Given the description of an element on the screen output the (x, y) to click on. 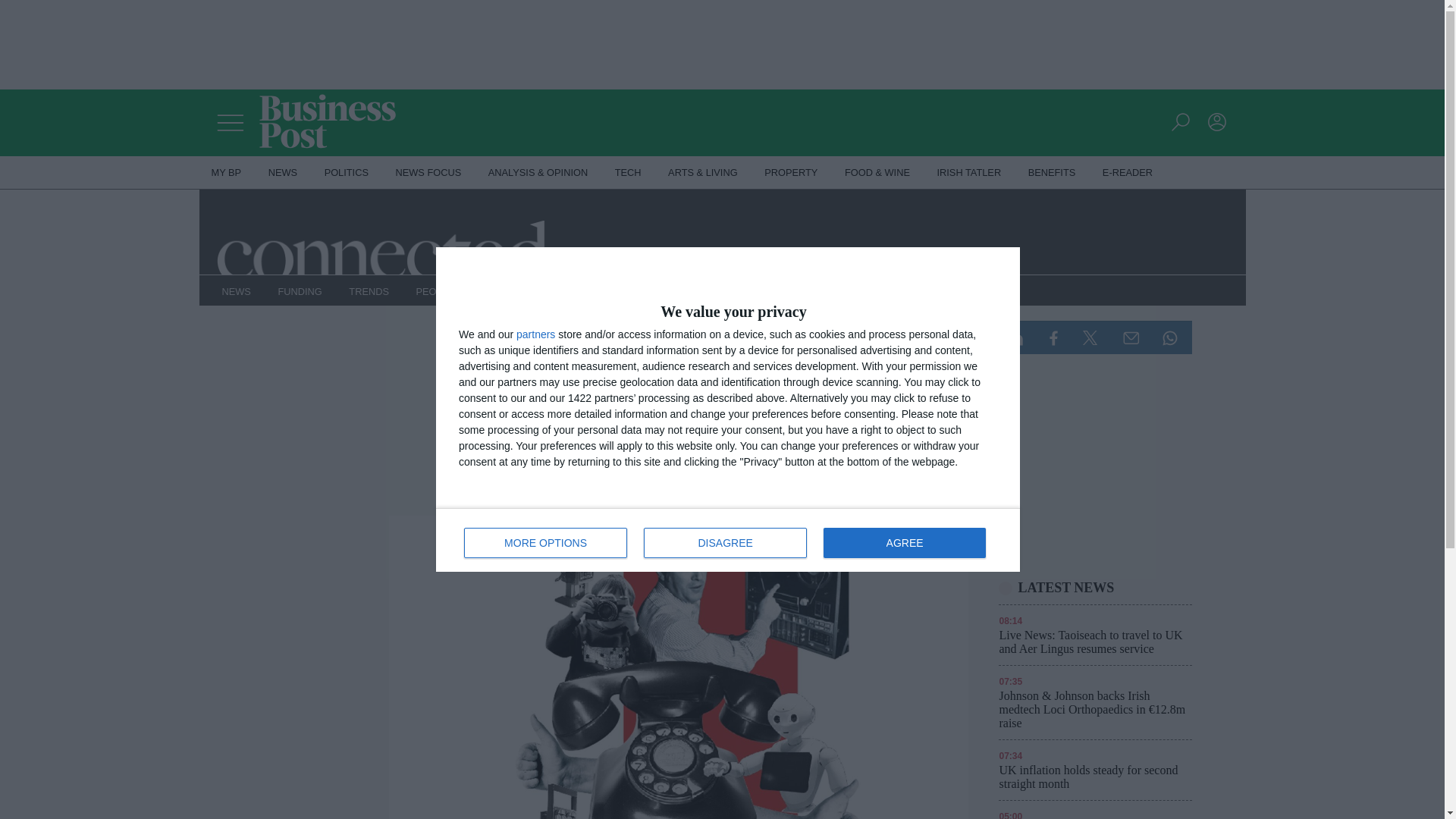
E-READER (1127, 172)
MY BP (225, 172)
IRISH TATLER (968, 172)
POLITICS (346, 172)
TECH (627, 172)
partners (535, 334)
BENEFITS (727, 539)
NEWS (1051, 172)
NEWS FOCUS (282, 172)
PROPERTY (429, 172)
AGREE (790, 172)
MORE OPTIONS (904, 542)
DISAGREE (545, 542)
